Given the description of an element on the screen output the (x, y) to click on. 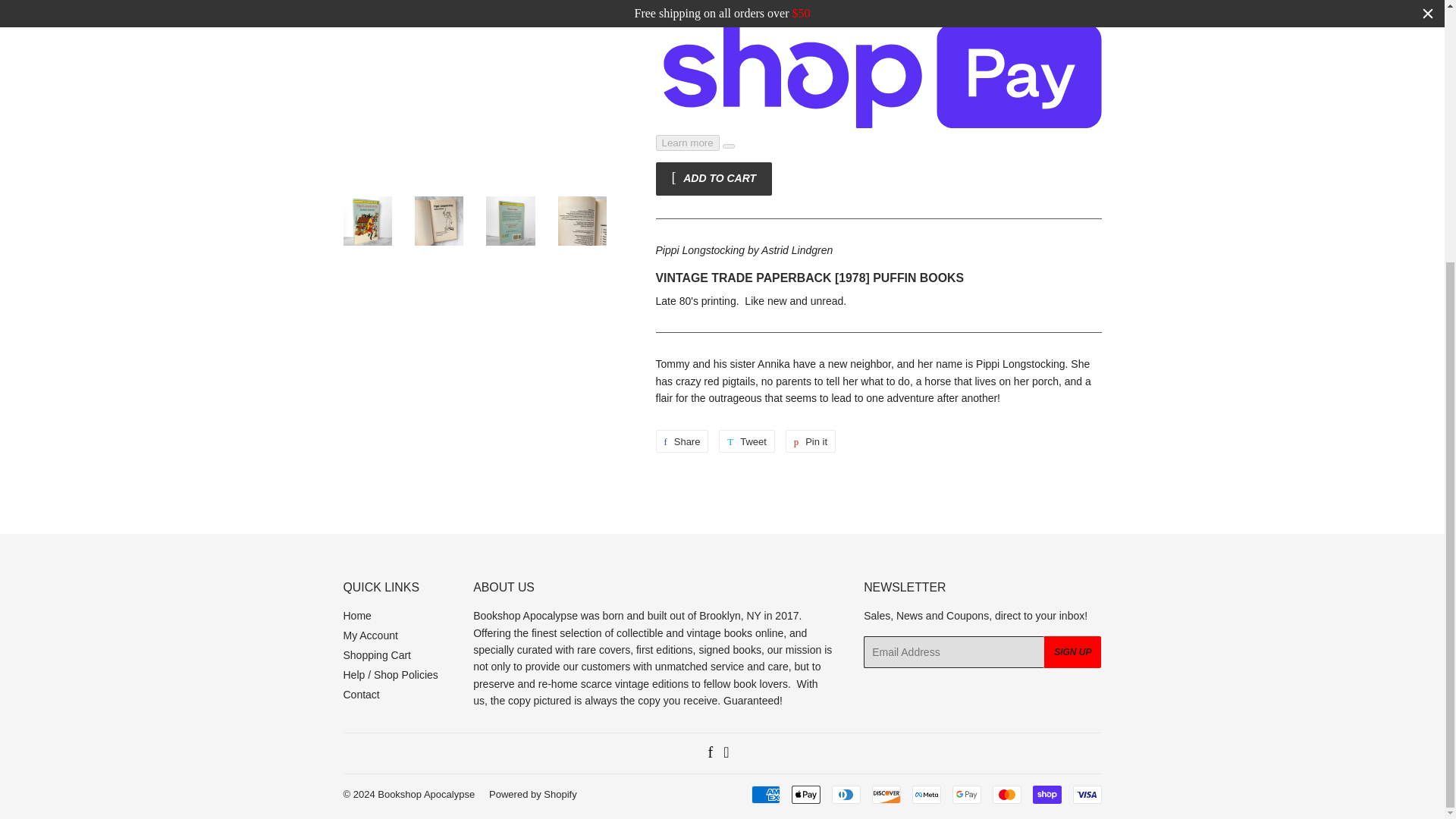
Google Pay (966, 794)
Tweet on Twitter (746, 440)
Discover (886, 794)
Visa (1085, 794)
Diners Club (845, 794)
Mastercard (1005, 794)
Meta Pay (925, 794)
Shop Pay (1046, 794)
Apple Pay (806, 794)
American Express (764, 794)
Pin on Pinterest (810, 440)
Share on Facebook (681, 440)
